Given the description of an element on the screen output the (x, y) to click on. 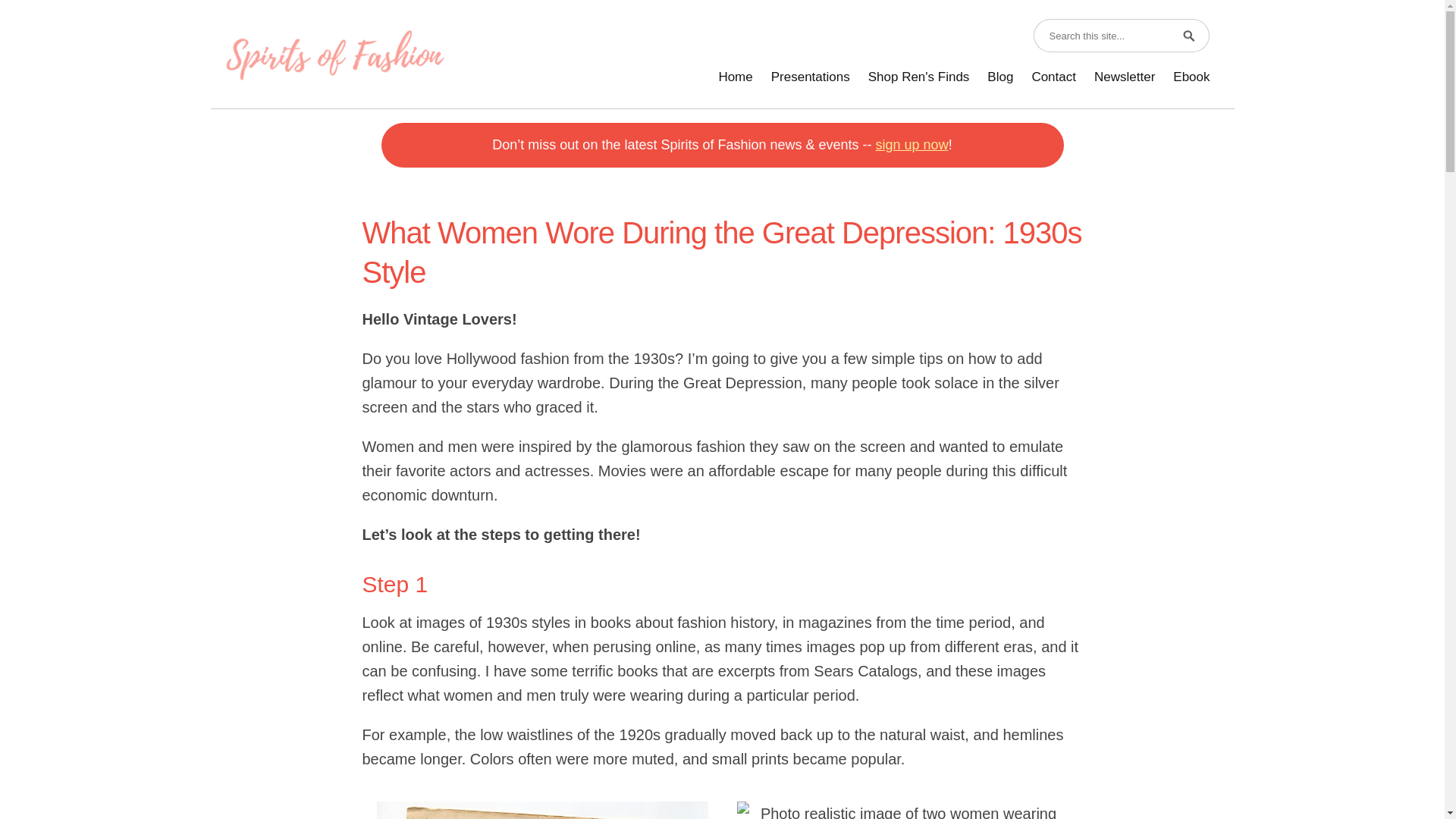
sign up now (912, 144)
Contact (1053, 77)
Home (735, 77)
Ebook (1190, 77)
Blog (1000, 77)
Shop Ren's Finds (918, 77)
Presentations (810, 77)
Newsletter (1123, 77)
MY WEBSITE (334, 55)
